Given the description of an element on the screen output the (x, y) to click on. 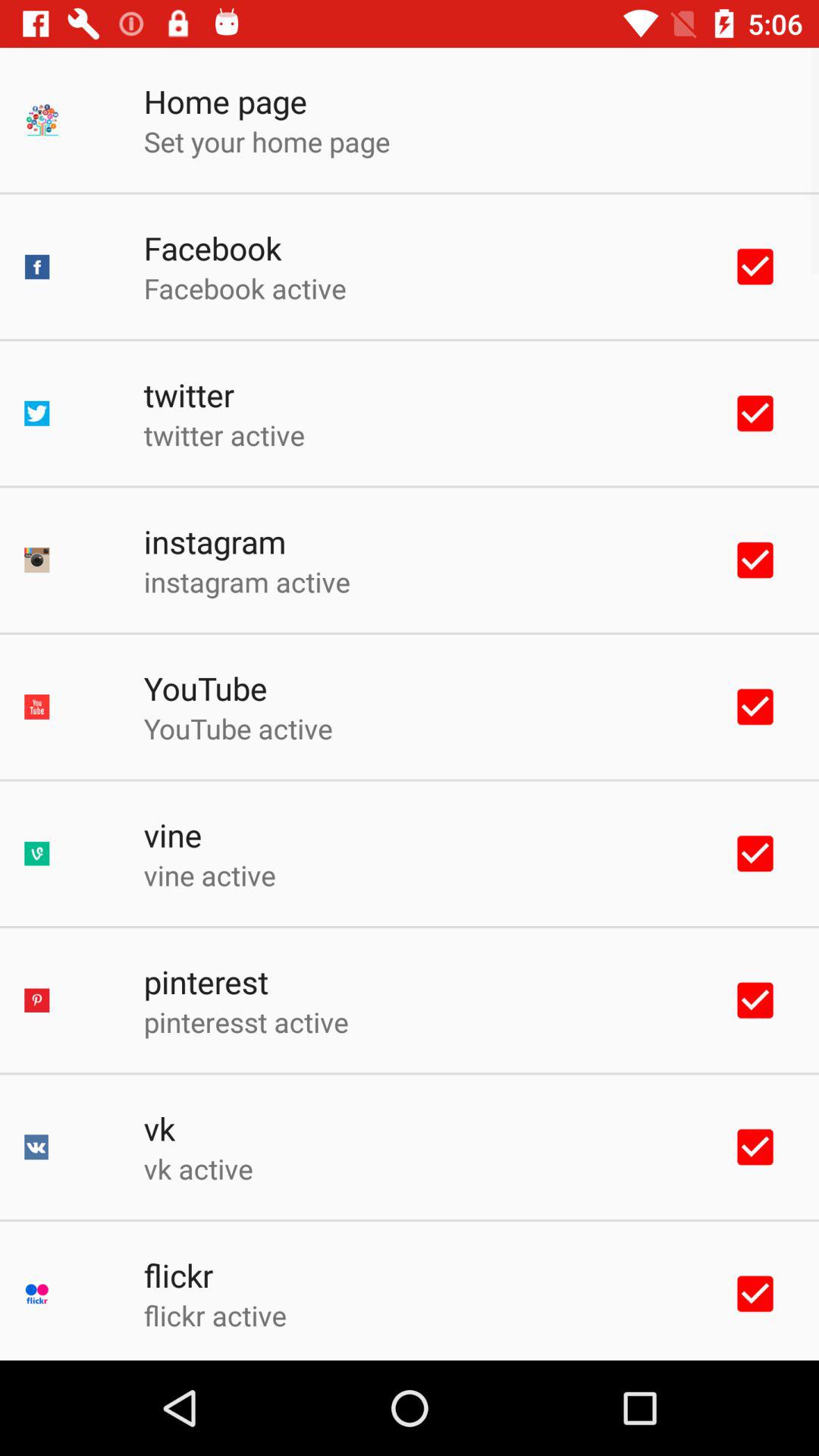
turn on icon above the vine app (237, 728)
